Given the description of an element on the screen output the (x, y) to click on. 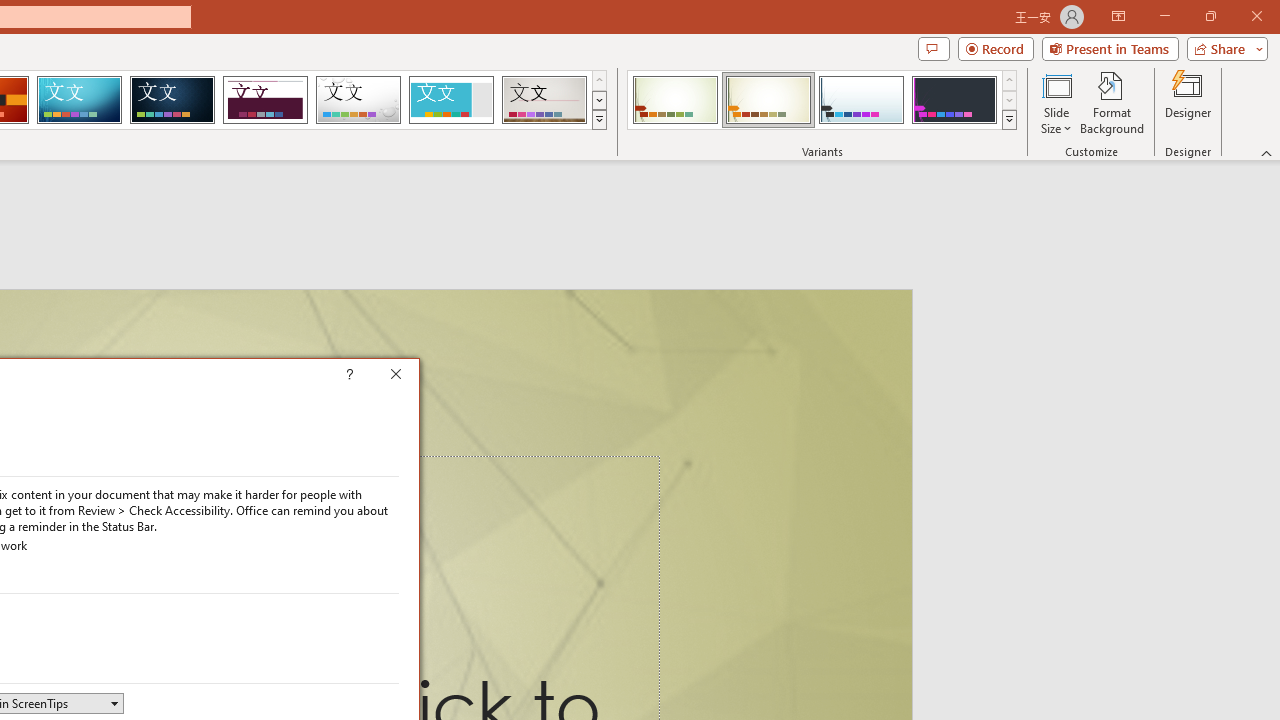
Wisp Variant 4 (953, 100)
Frame Loading Preview... (450, 100)
Context help (378, 376)
Variants (1009, 120)
Wisp Variant 1 (674, 100)
AutomationID: ThemeVariantsGallery (822, 99)
Damask Loading Preview... (171, 100)
Dividend Loading Preview... (265, 100)
Wisp Variant 2 (768, 100)
